Given the description of an element on the screen output the (x, y) to click on. 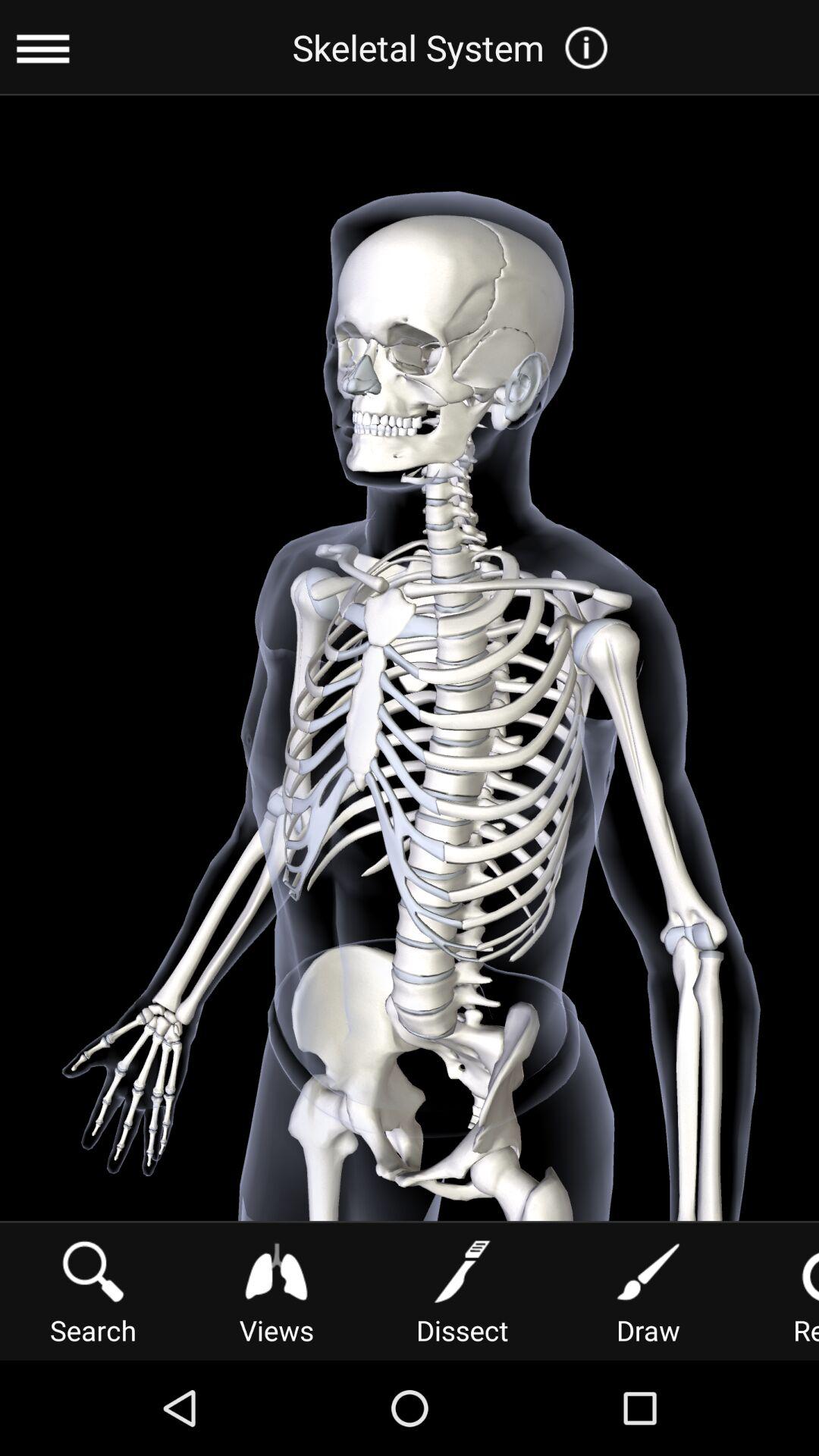
turn on the item to the left of the reset (648, 1290)
